Given the description of an element on the screen output the (x, y) to click on. 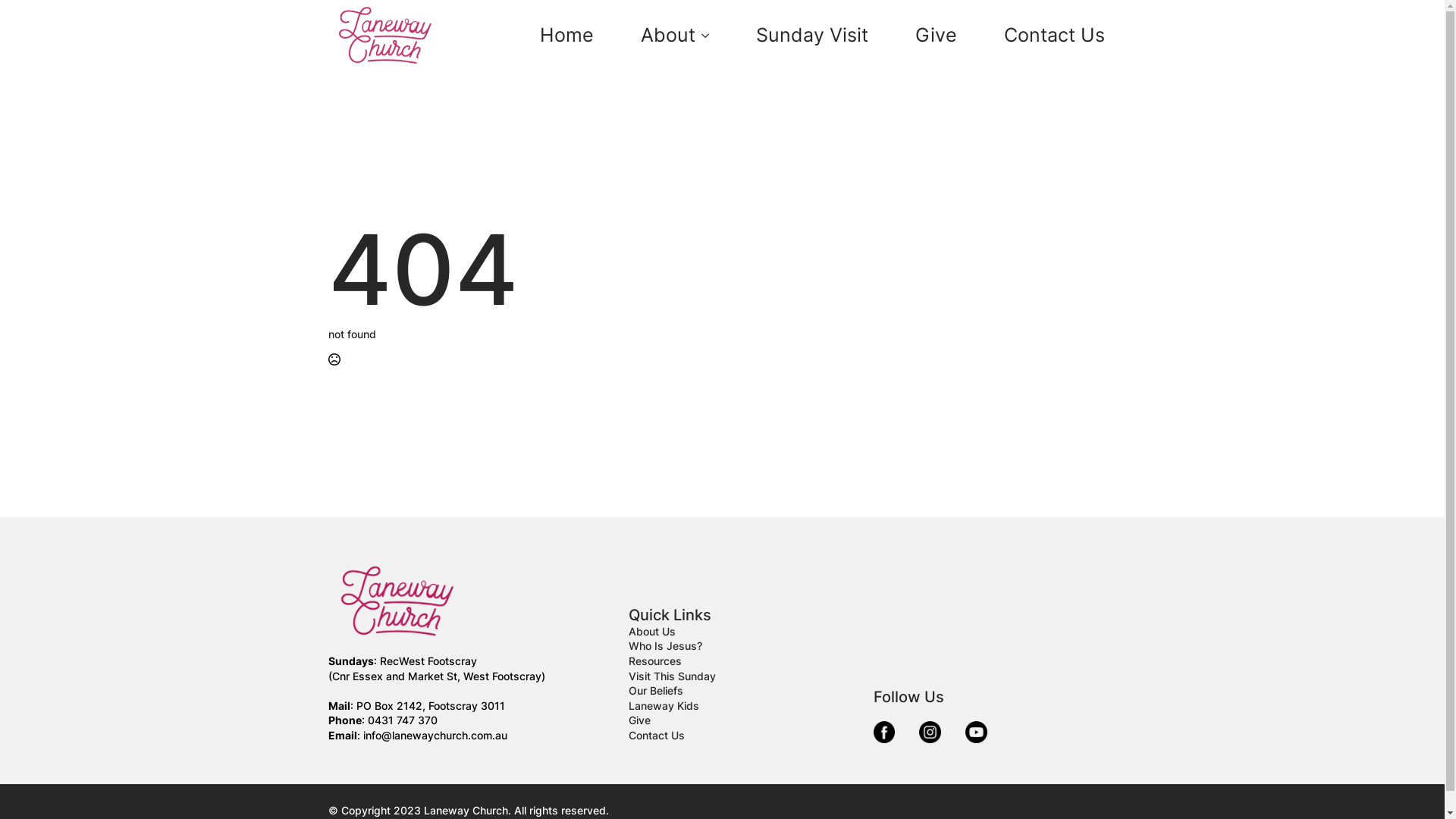
Home Element type: text (566, 34)
Contact Us Element type: text (1054, 34)
About Element type: text (660, 34)
Contact Us Element type: text (656, 735)
Who Is Jesus? Element type: text (665, 645)
Laneway Kids Element type: text (663, 705)
About Us Element type: text (651, 631)
Sunday Visit Element type: text (811, 34)
Visit This Sunday Element type: text (671, 676)
Resources Element type: text (654, 660)
Give Element type: text (639, 720)
Give Element type: text (935, 34)
Our Beliefs Element type: text (655, 690)
